Given the description of an element on the screen output the (x, y) to click on. 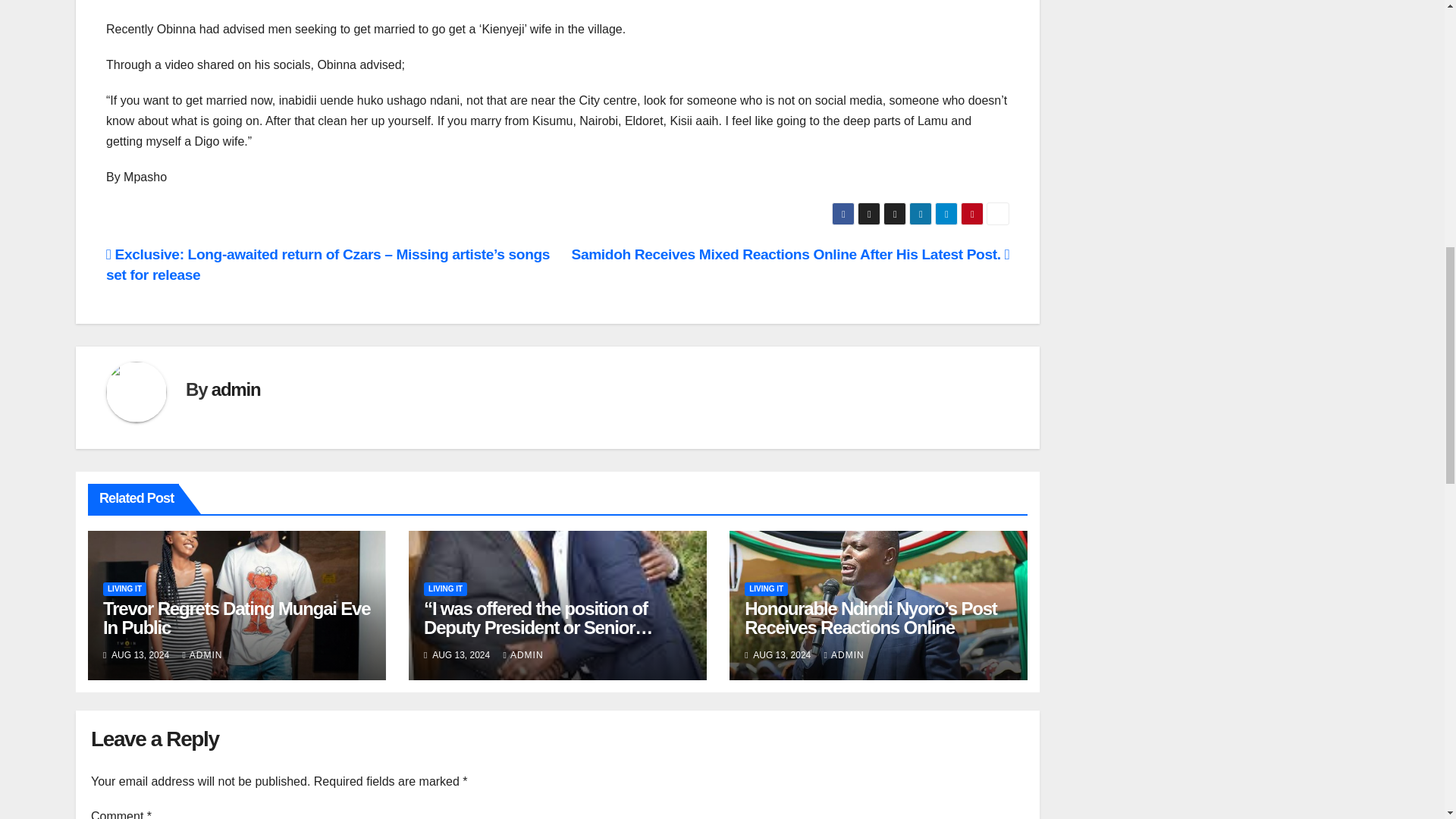
Permalink to: Trevor Regrets Dating Mungai Eve In Public (236, 618)
admin (235, 389)
Trevor Regrets Dating Mungai Eve In Public (236, 618)
LIVING IT (125, 589)
ADMIN (202, 655)
